Given the description of an element on the screen output the (x, y) to click on. 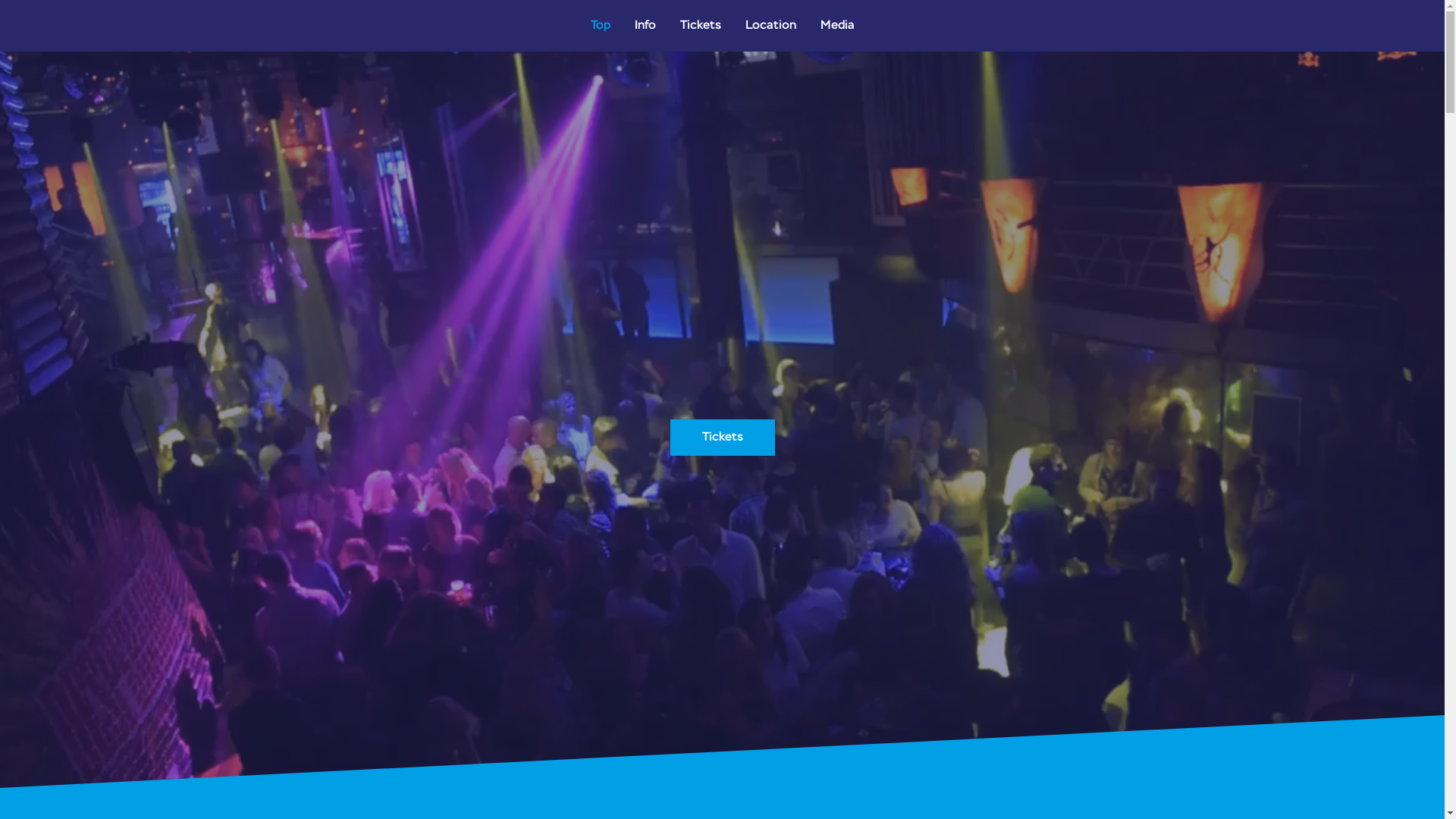
Tickets Element type: text (722, 437)
Info Element type: text (644, 25)
Media Element type: text (837, 25)
Location Element type: text (769, 25)
Tickets Element type: text (699, 25)
Top Element type: text (599, 25)
